Given the description of an element on the screen output the (x, y) to click on. 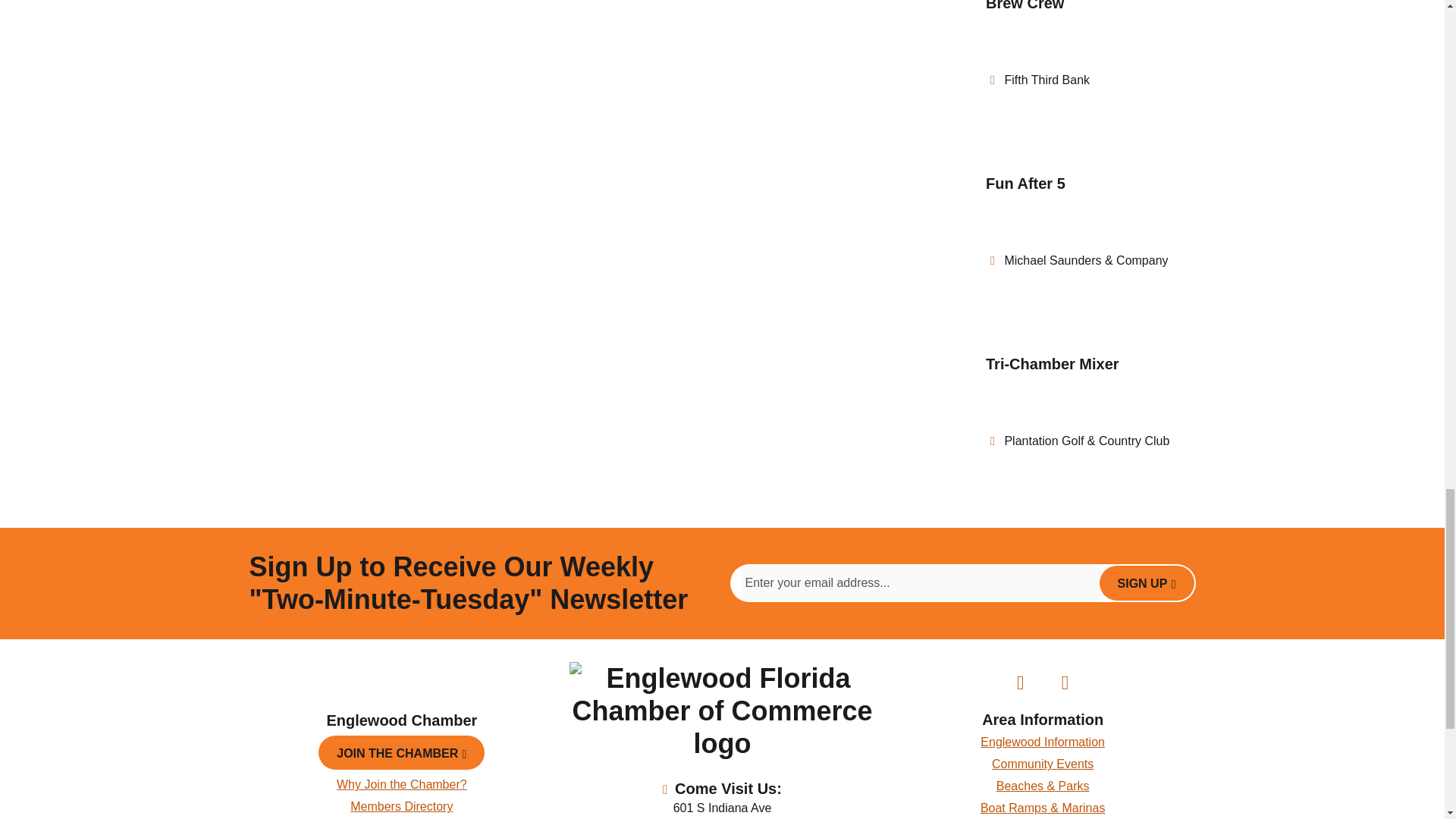
Facebook (1020, 682)
Instagram (1064, 682)
